Given the description of an element on the screen output the (x, y) to click on. 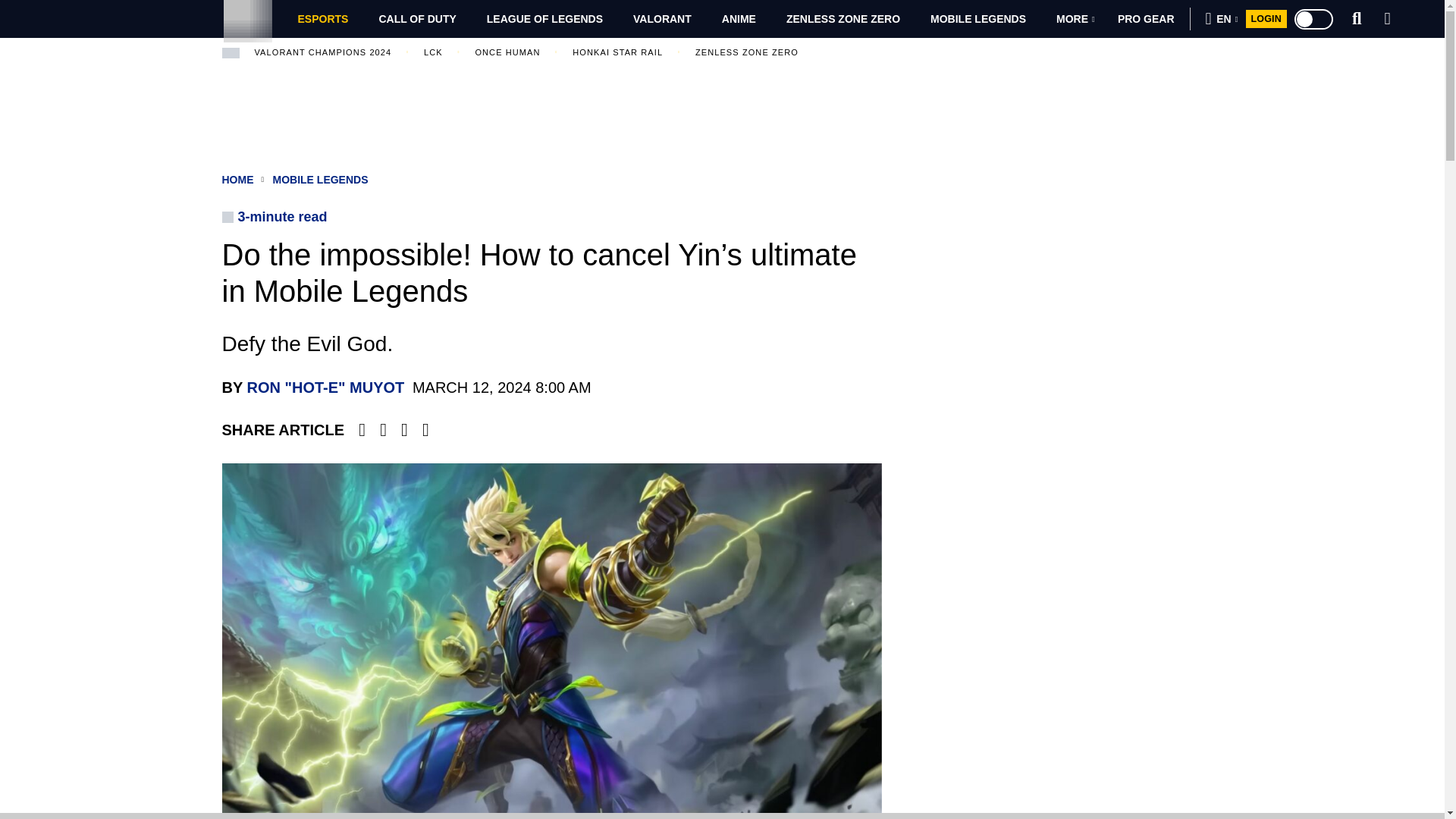
VALORANT (661, 18)
ANIME (738, 18)
EN (1222, 18)
ZENLESS ZONE ZERO (843, 18)
ESPORTS (322, 18)
MOBILE LEGENDS (978, 18)
LEAGUE OF LEGENDS (544, 18)
Go (1188, 62)
CALL OF DUTY (416, 18)
MORE (1075, 18)
